Given the description of an element on the screen output the (x, y) to click on. 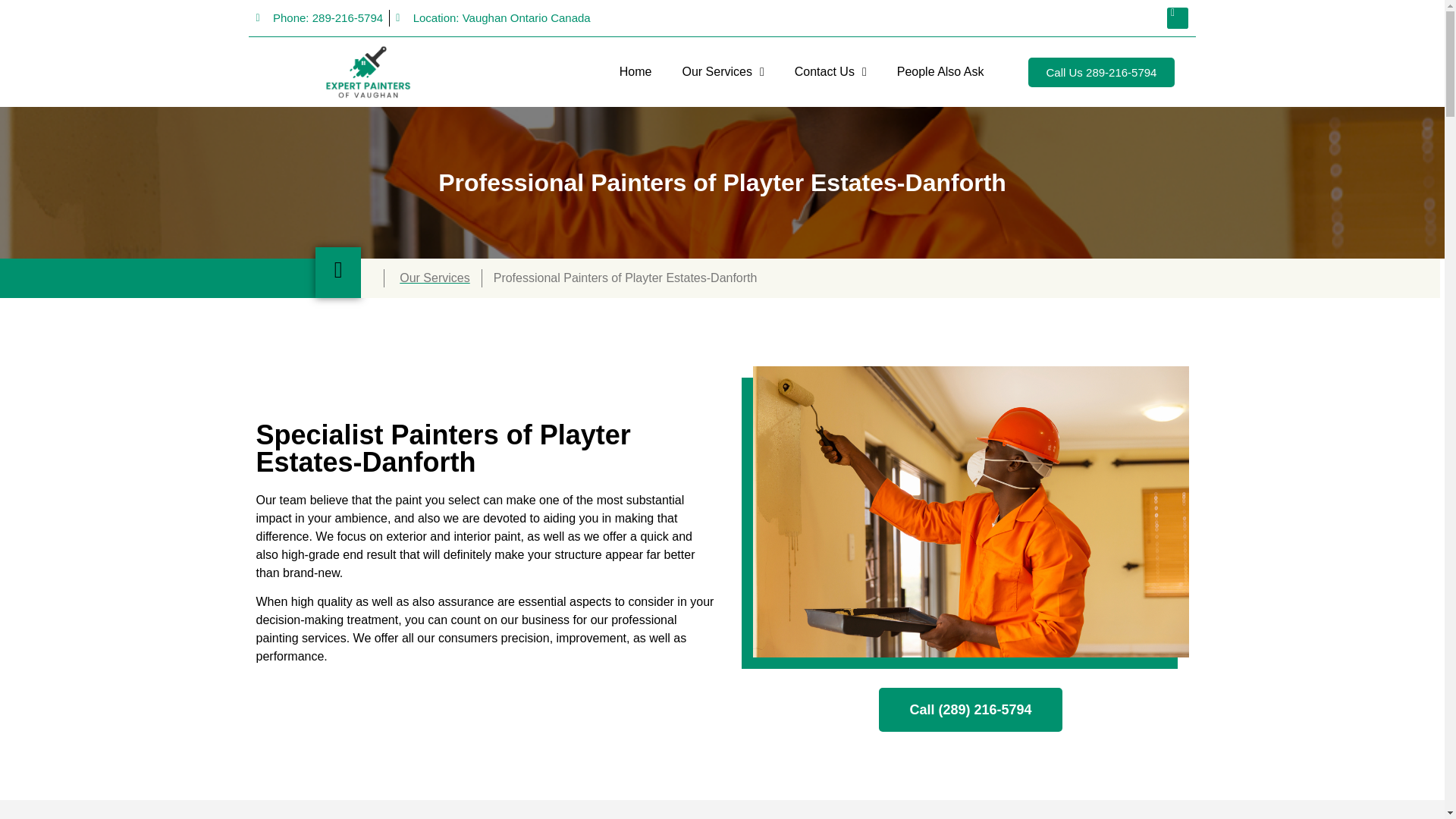
Home (635, 71)
Location: Vaughan Ontario Canada (493, 18)
Phone: 289-216-5794 (320, 18)
Our Services (722, 71)
Contact Us (830, 71)
